Given the description of an element on the screen output the (x, y) to click on. 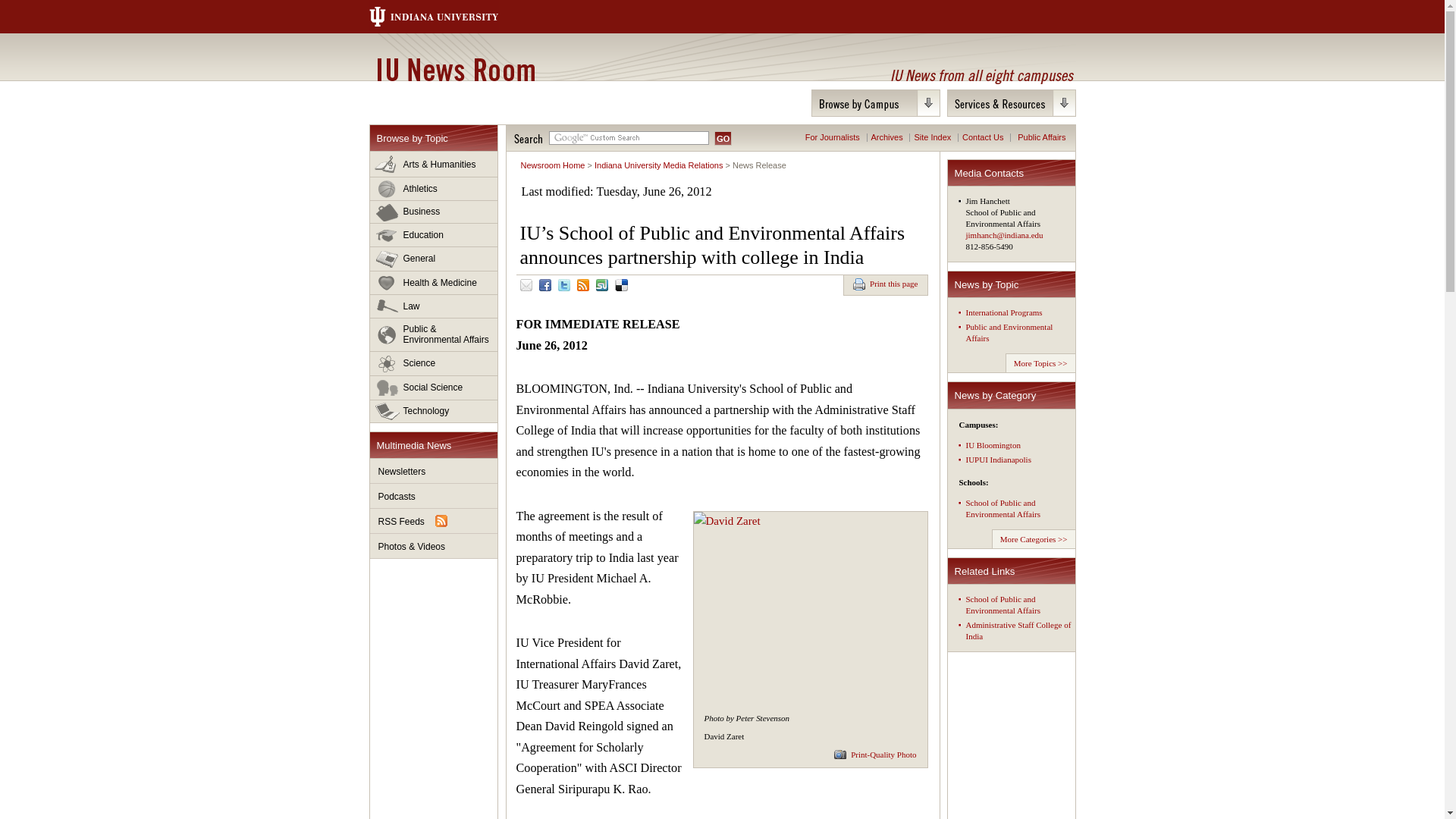
Indiana University (448, 16)
Education (433, 235)
IU News Room (455, 69)
Technology (433, 411)
Science (433, 363)
General (433, 259)
Athletics (433, 188)
RSS Feeds (433, 520)
Business (433, 211)
Athletics (433, 188)
Business (433, 211)
Education (433, 235)
Social Science (433, 387)
Newsletters (433, 471)
Law (433, 306)
